Given the description of an element on the screen output the (x, y) to click on. 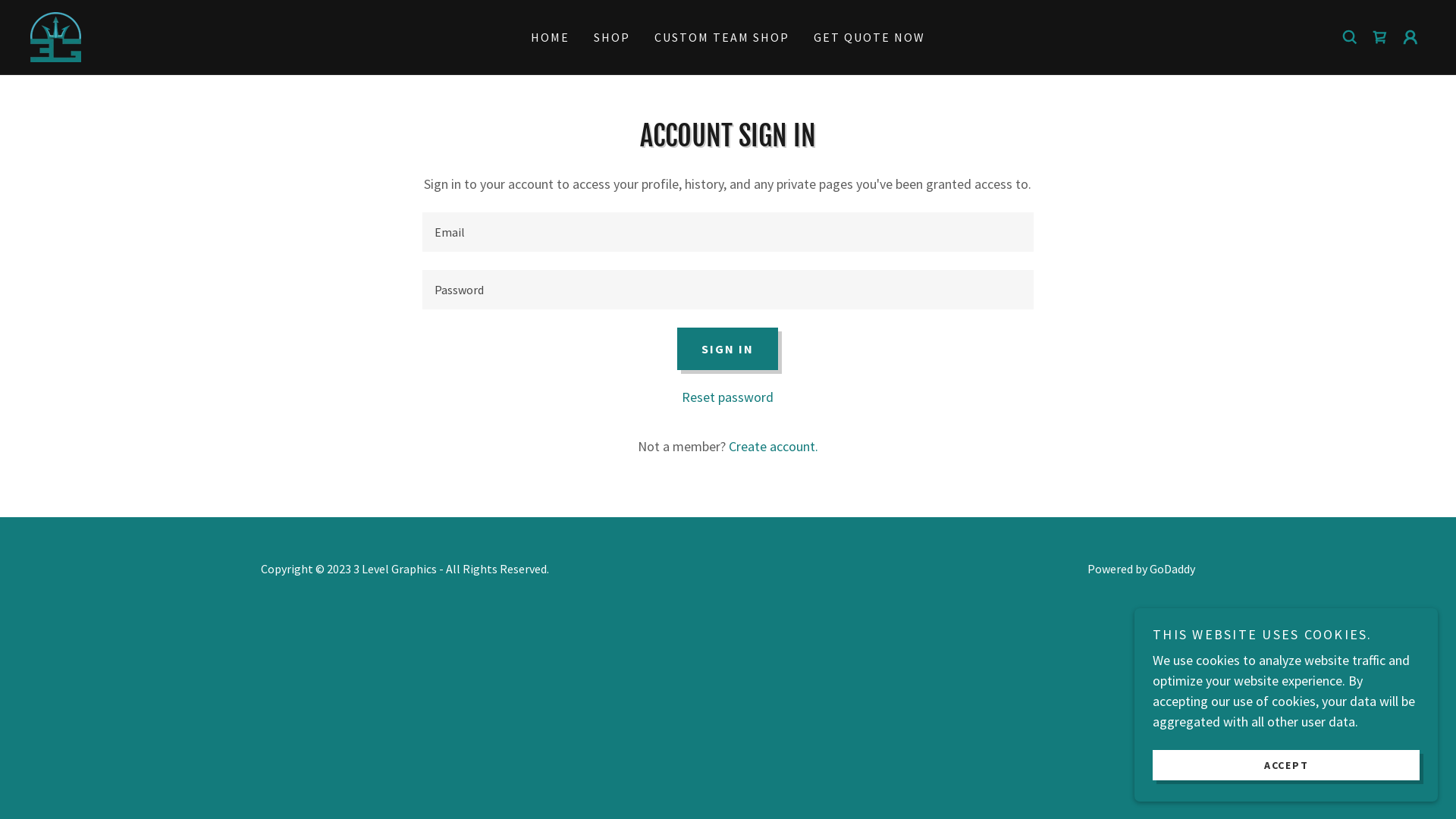
HOME Element type: text (550, 36)
Create account. Element type: text (773, 446)
ACCEPT Element type: text (1285, 764)
GoDaddy Element type: text (1172, 568)
SHOP Element type: text (611, 36)
GET QUOTE NOW Element type: text (869, 36)
Reset password Element type: text (727, 396)
3 Level Graphics Element type: hover (55, 34)
CUSTOM TEAM SHOP Element type: text (721, 36)
SIGN IN Element type: text (727, 348)
